Given the description of an element on the screen output the (x, y) to click on. 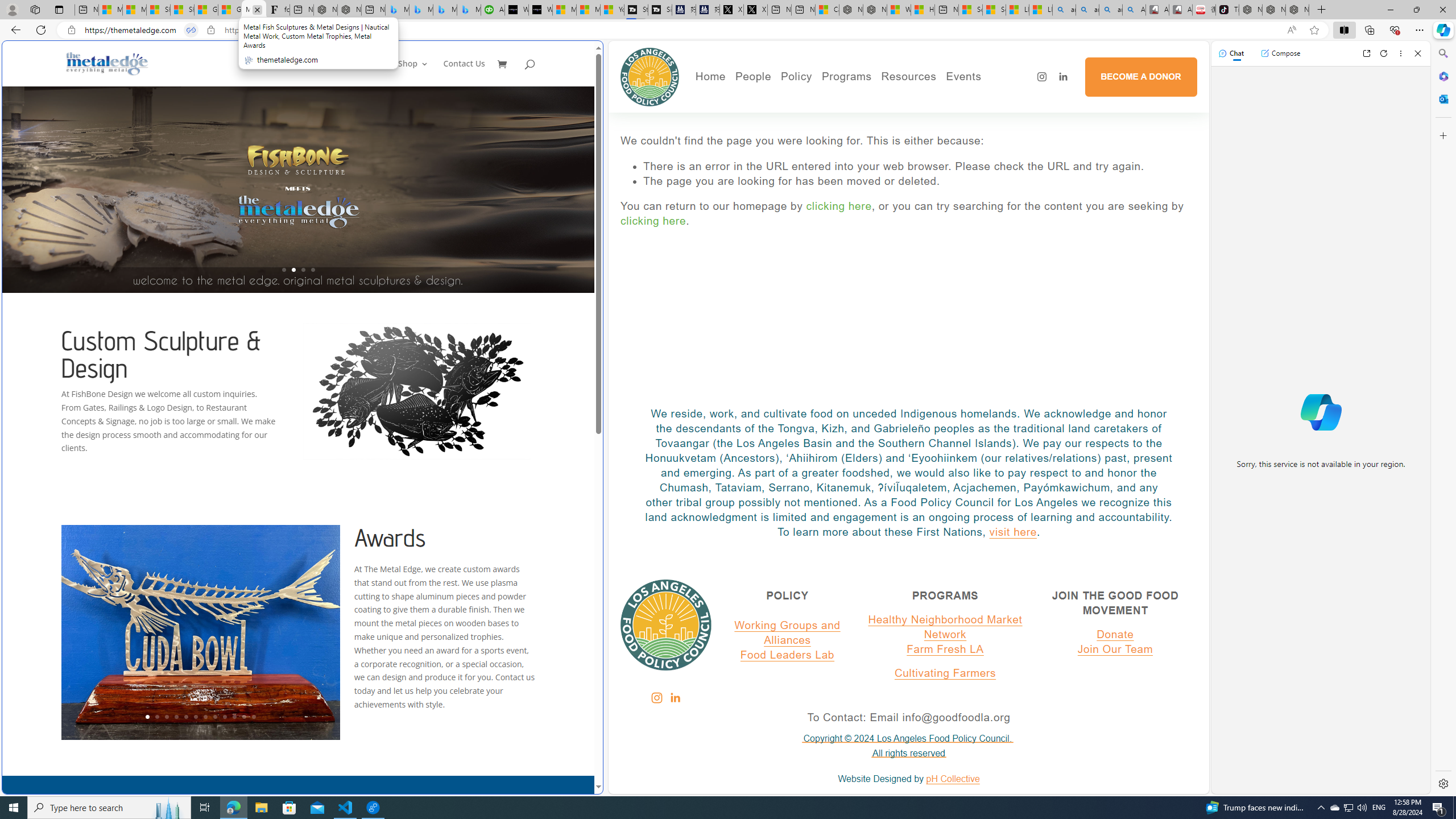
Home (377, 72)
Nordace - #1 Japanese Best-Seller - Siena Smart Backpack (349, 9)
Compose (1280, 52)
Shanghai, China weather forecast | Microsoft Weather (182, 9)
Split screen (1344, 29)
Cultivating Farmers  (944, 672)
LA Foodscapes (1002, 113)
Wildlife - MSN (898, 9)
Food Leaders Lab (786, 654)
Instagram (656, 697)
View site information (210, 29)
6 (195, 716)
